Given the description of an element on the screen output the (x, y) to click on. 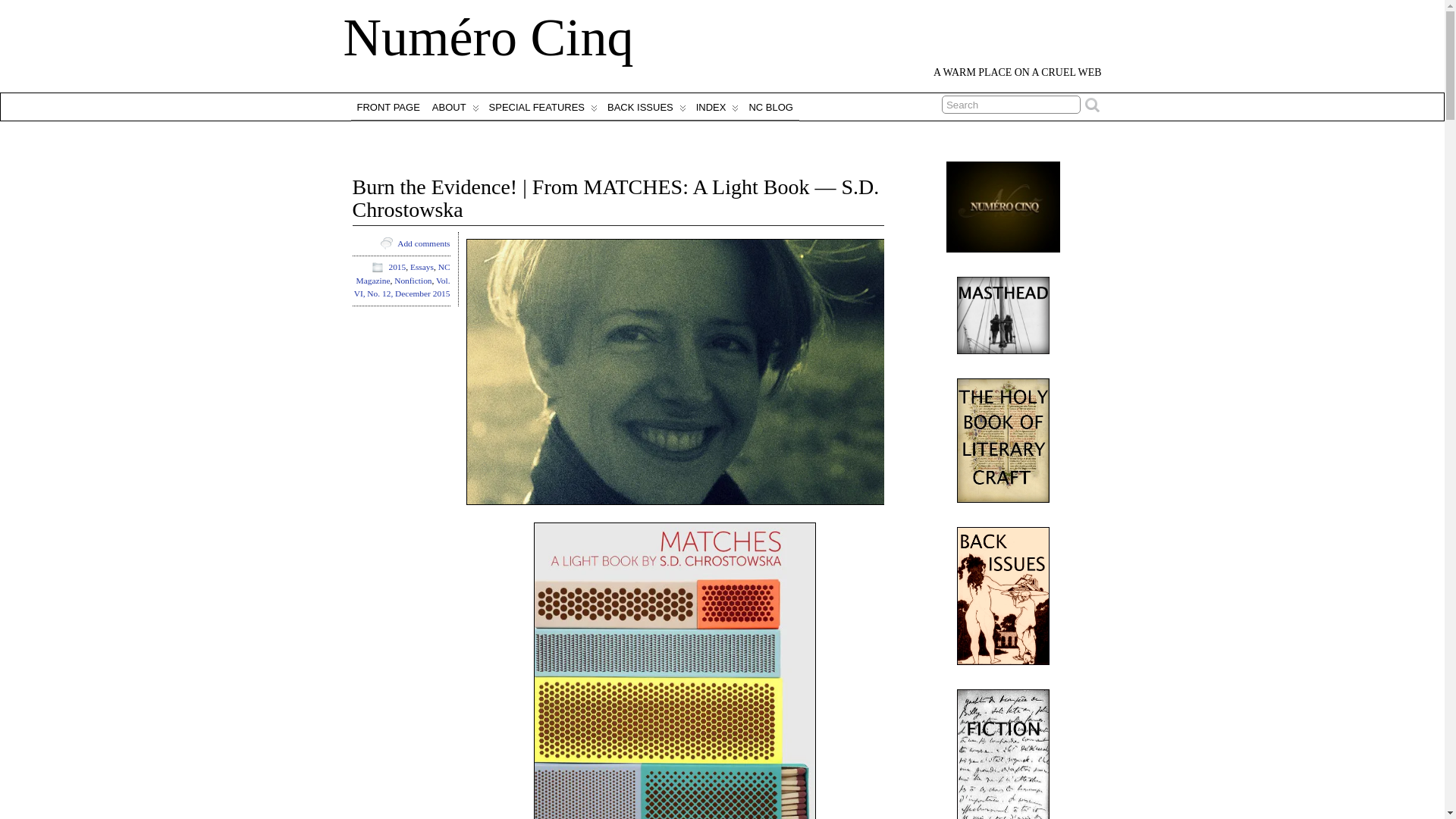
Search (1011, 104)
FRONT PAGE (387, 106)
NC BLOG (770, 106)
Search (1011, 104)
 BACK ISSUES (645, 106)
 ABOUT (454, 106)
 SPECIAL FEATURES (542, 106)
 INDEX (716, 106)
